Given the description of an element on the screen output the (x, y) to click on. 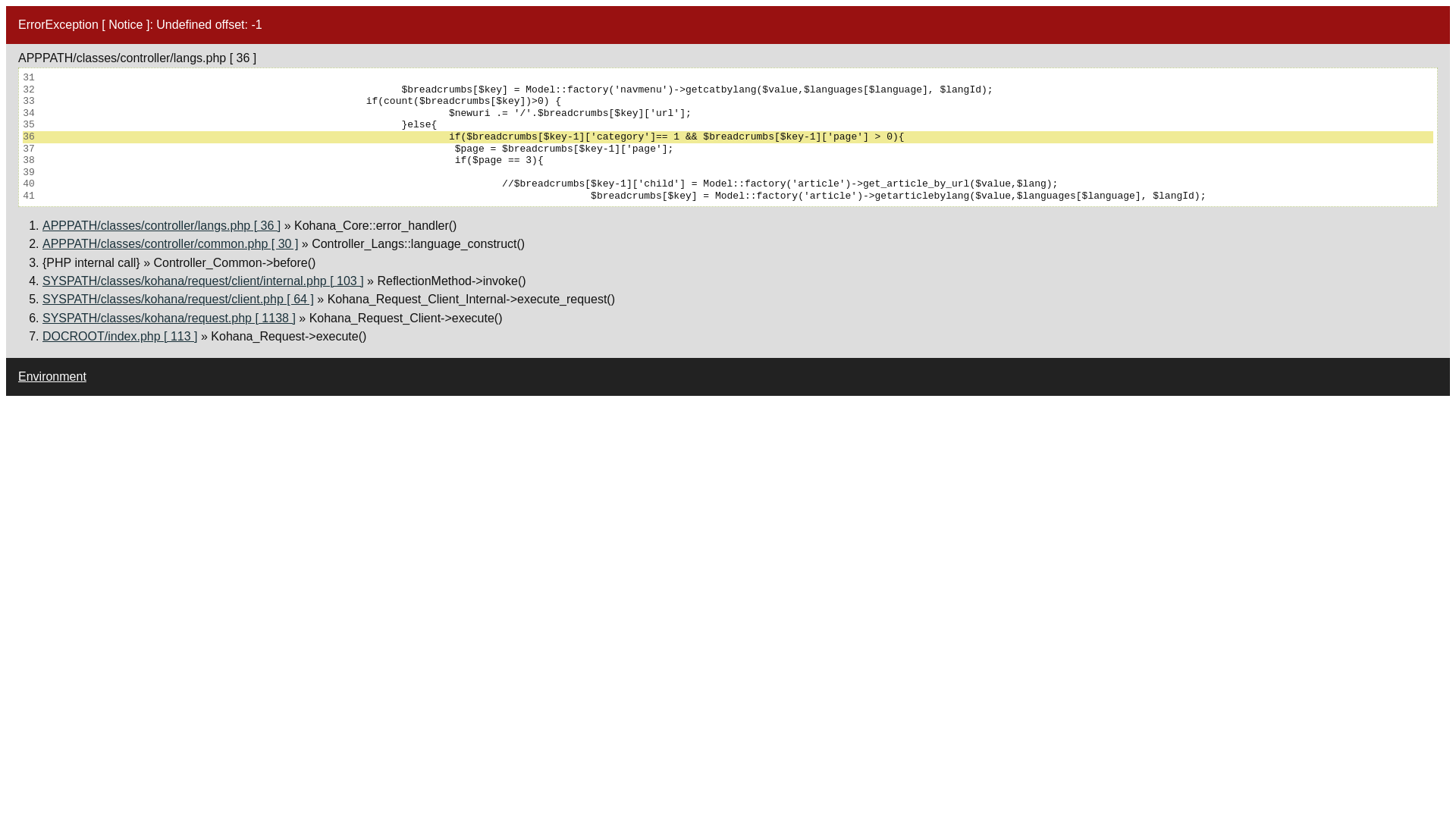
Environment Element type: text (52, 376)
APPPATH/classes/controller/common.php [ 30 ] Element type: text (170, 243)
APPPATH/classes/controller/langs.php [ 36 ] Element type: text (161, 225)
SYSPATH/classes/kohana/request/client/internal.php [ 103 ] Element type: text (203, 280)
DOCROOT/index.php [ 113 ] Element type: text (119, 335)
SYSPATH/classes/kohana/request.php [ 1138 ] Element type: text (168, 317)
SYSPATH/classes/kohana/request/client.php [ 64 ] Element type: text (177, 298)
